Given the description of an element on the screen output the (x, y) to click on. 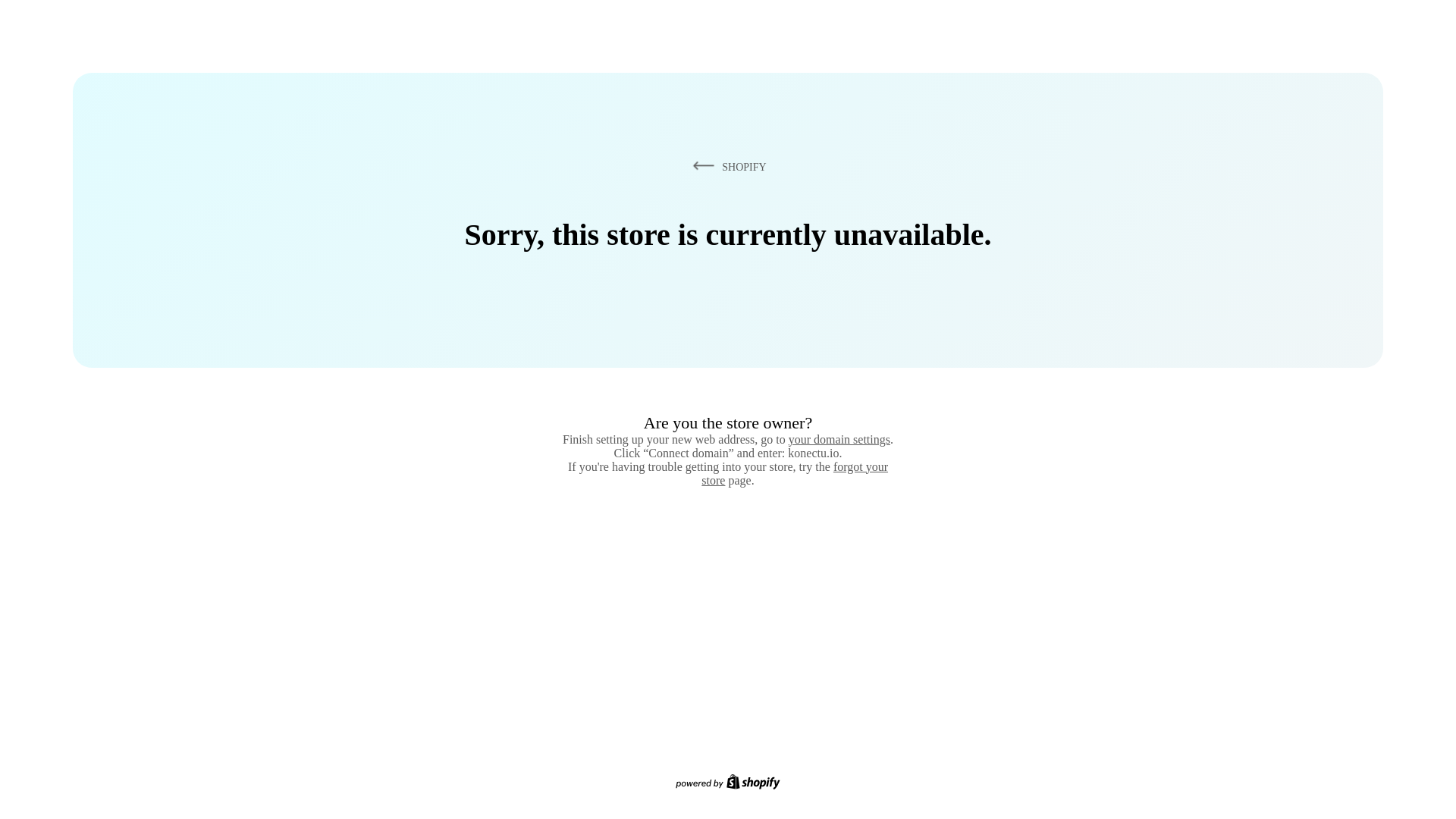
forgot your store (794, 473)
SHOPIFY (726, 166)
your domain settings (839, 439)
